Given the description of an element on the screen output the (x, y) to click on. 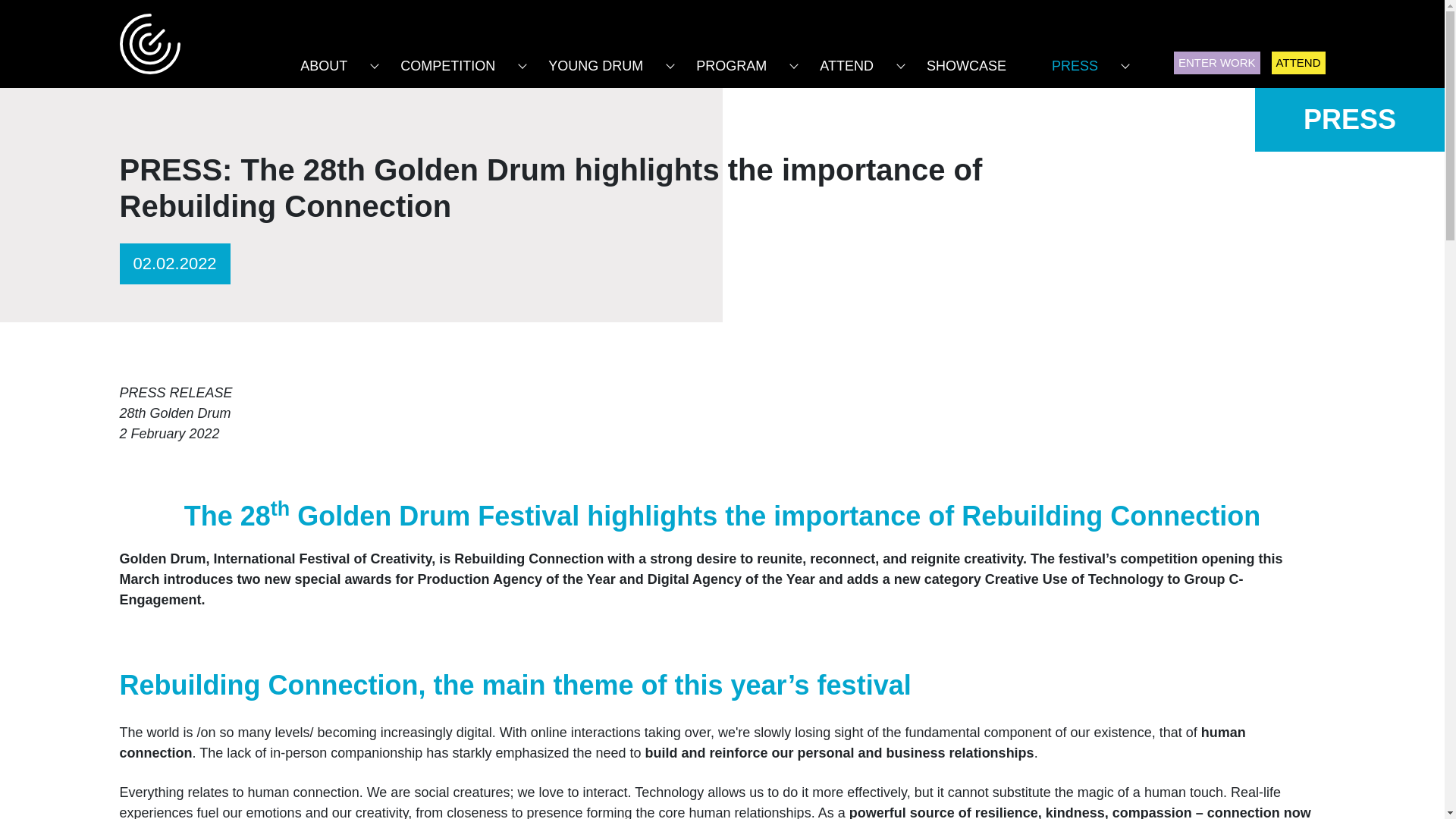
COMPETITION (447, 59)
PROGRAM (730, 59)
ABOUT (323, 59)
YOUNG DRUM (595, 59)
